Given the description of an element on the screen output the (x, y) to click on. 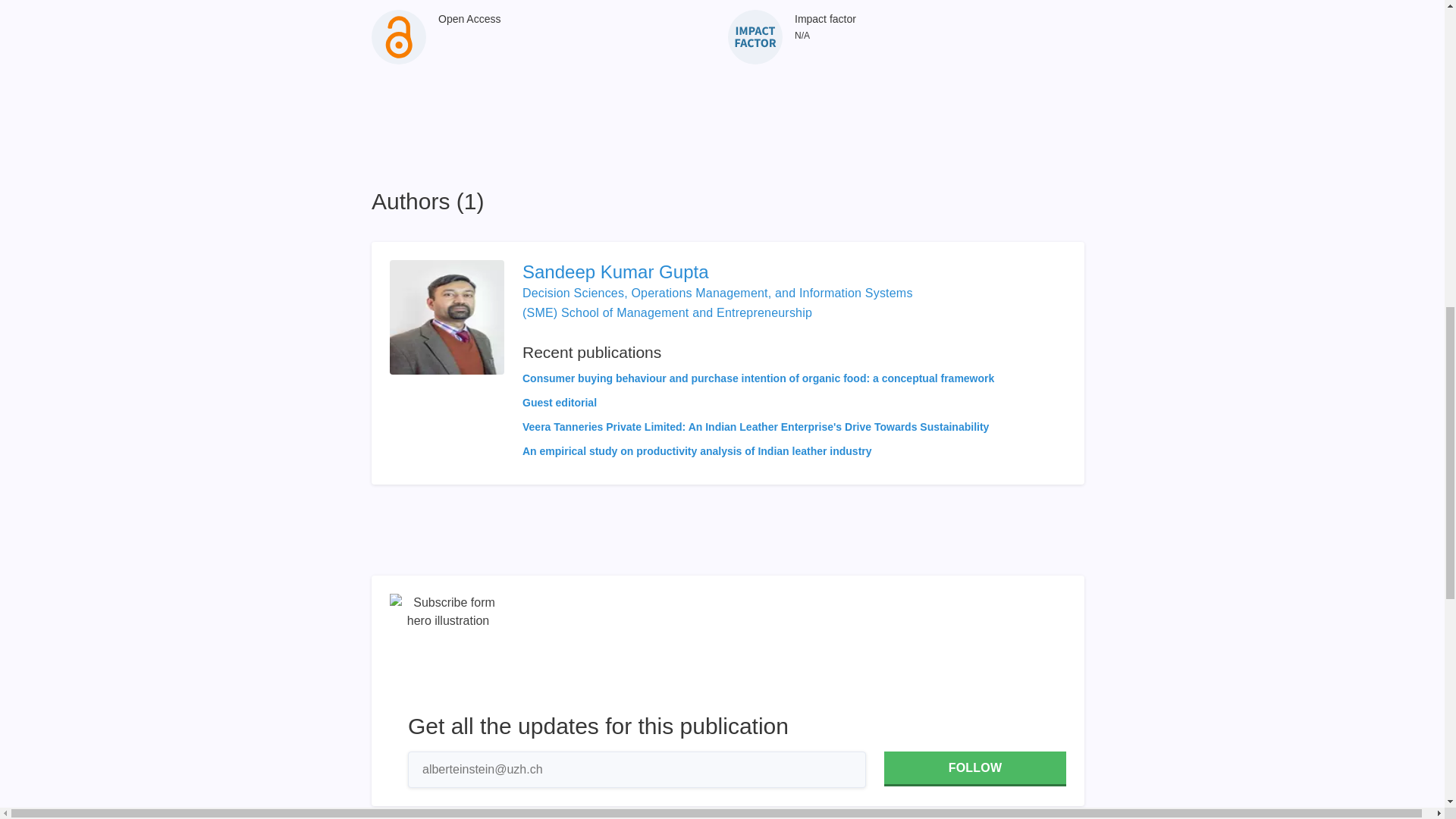
FOLLOW (974, 768)
Sandeep Kumar Gupta (758, 272)
Subscribe form hero illustration (448, 651)
Guest editorial (559, 402)
